Given the description of an element on the screen output the (x, y) to click on. 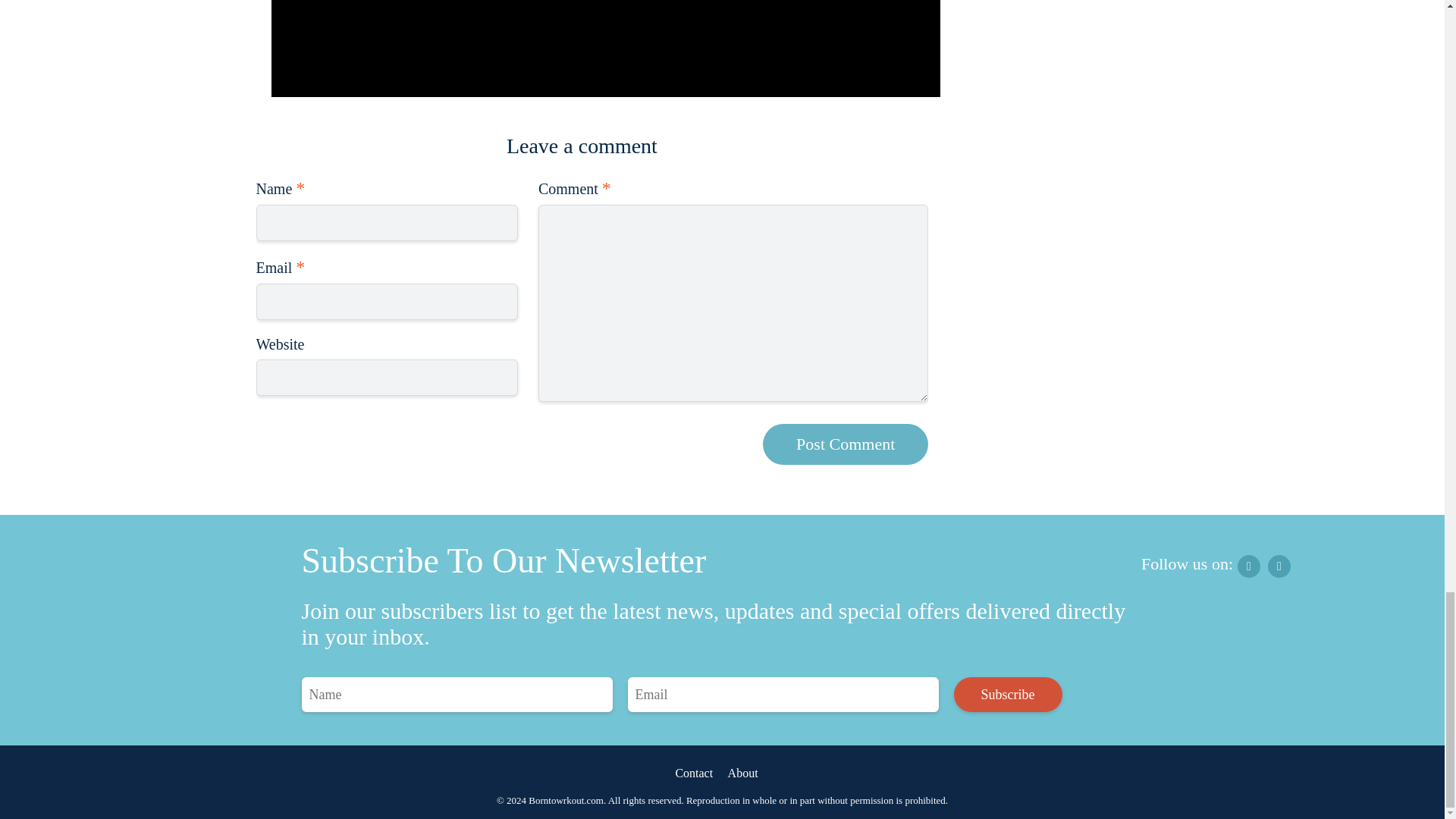
Subscribe (1007, 694)
Subscribe (1007, 694)
Post Comment (845, 444)
Post Comment (845, 444)
